Given the description of an element on the screen output the (x, y) to click on. 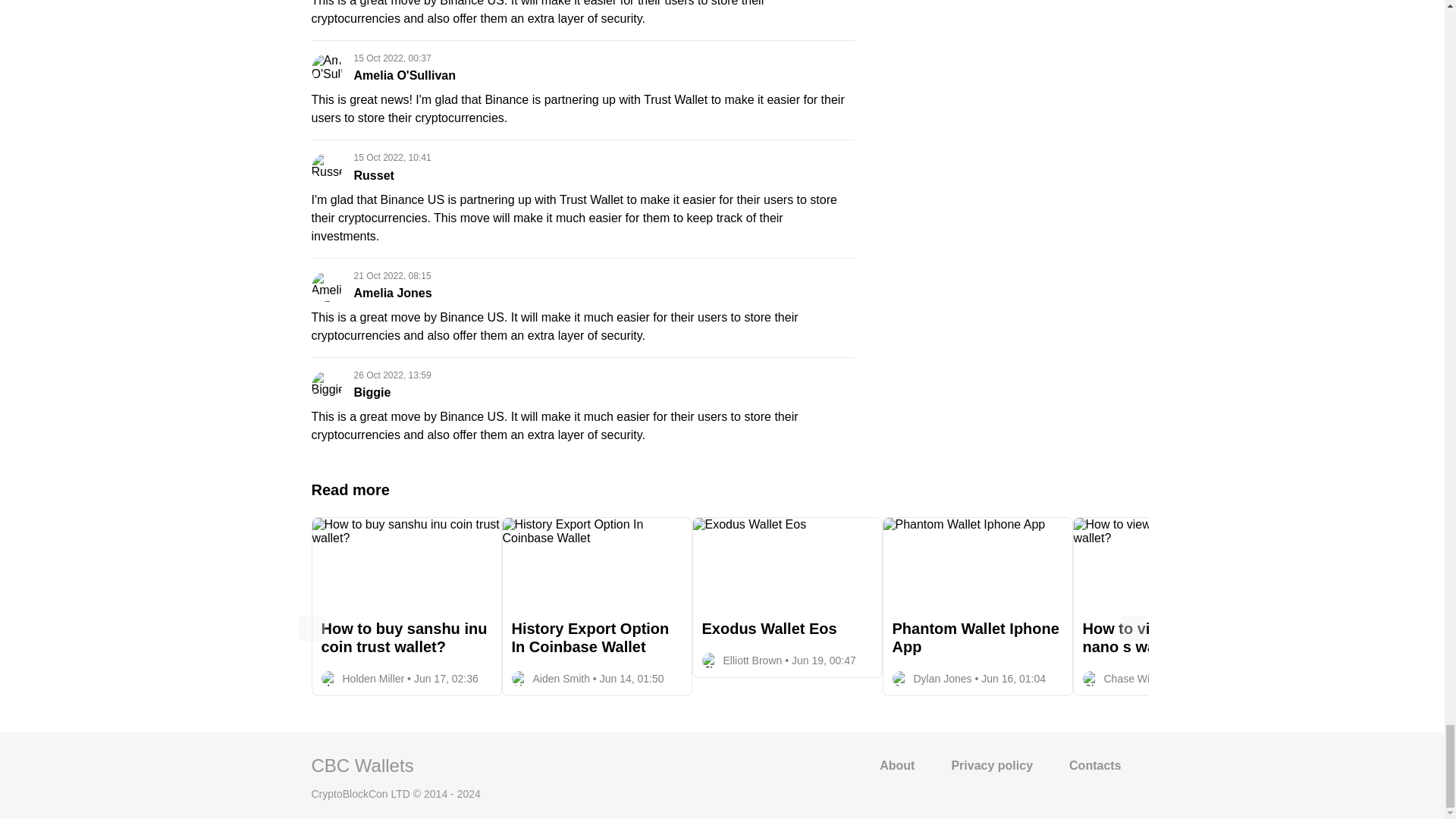
How to view ledger nano s wallet? (1168, 591)
History Export Option In Coinbase Wallet (596, 591)
Phantom Wallet Iphone App (976, 591)
Exodus Wallet Eos (787, 582)
How to buy sanshu inu coin trust wallet? (406, 591)
